Given the description of an element on the screen output the (x, y) to click on. 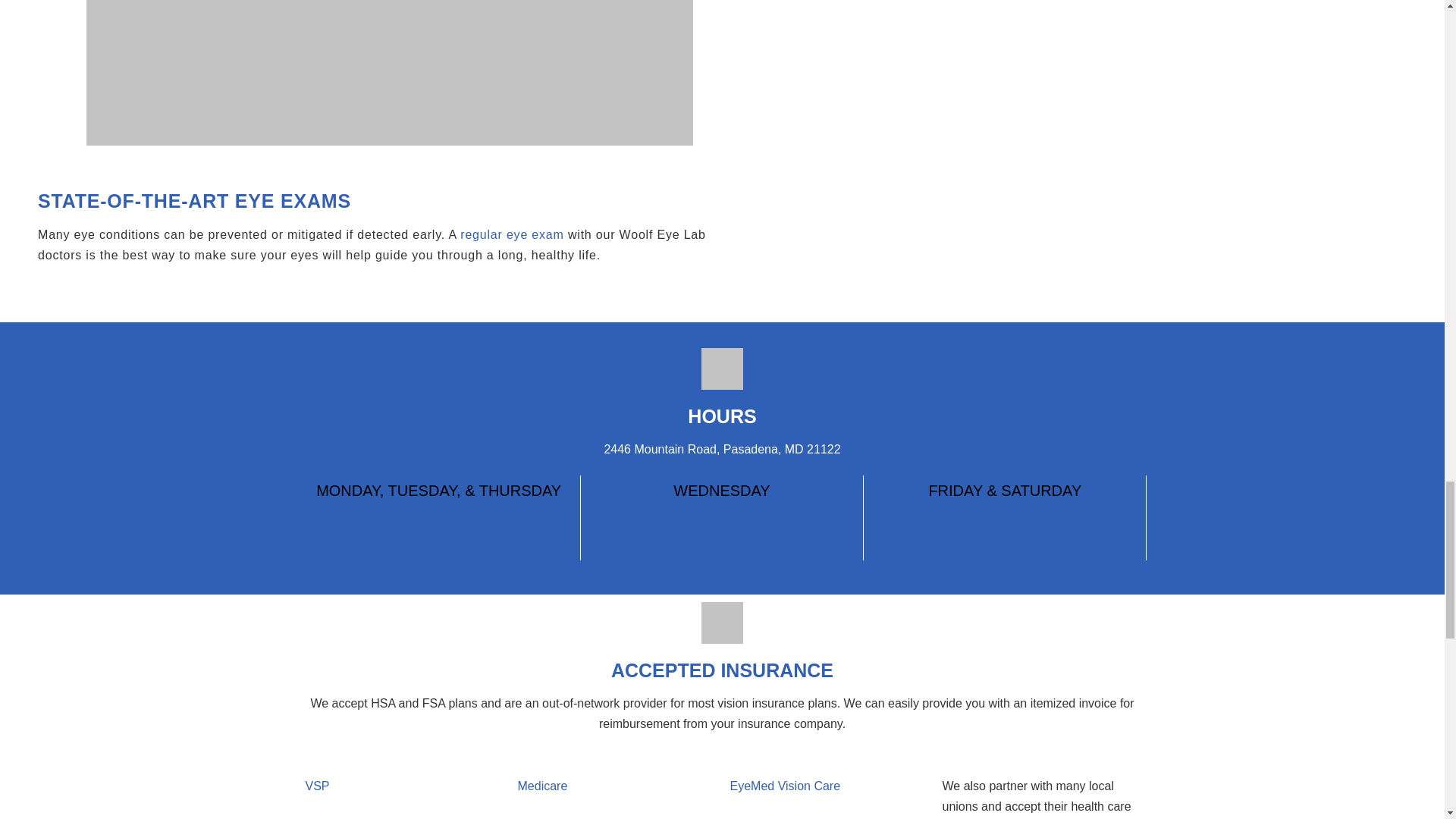
Medicare (541, 785)
regular eye exam (511, 234)
VSP (316, 785)
EyeMed Vision Care (784, 785)
